Given the description of an element on the screen output the (x, y) to click on. 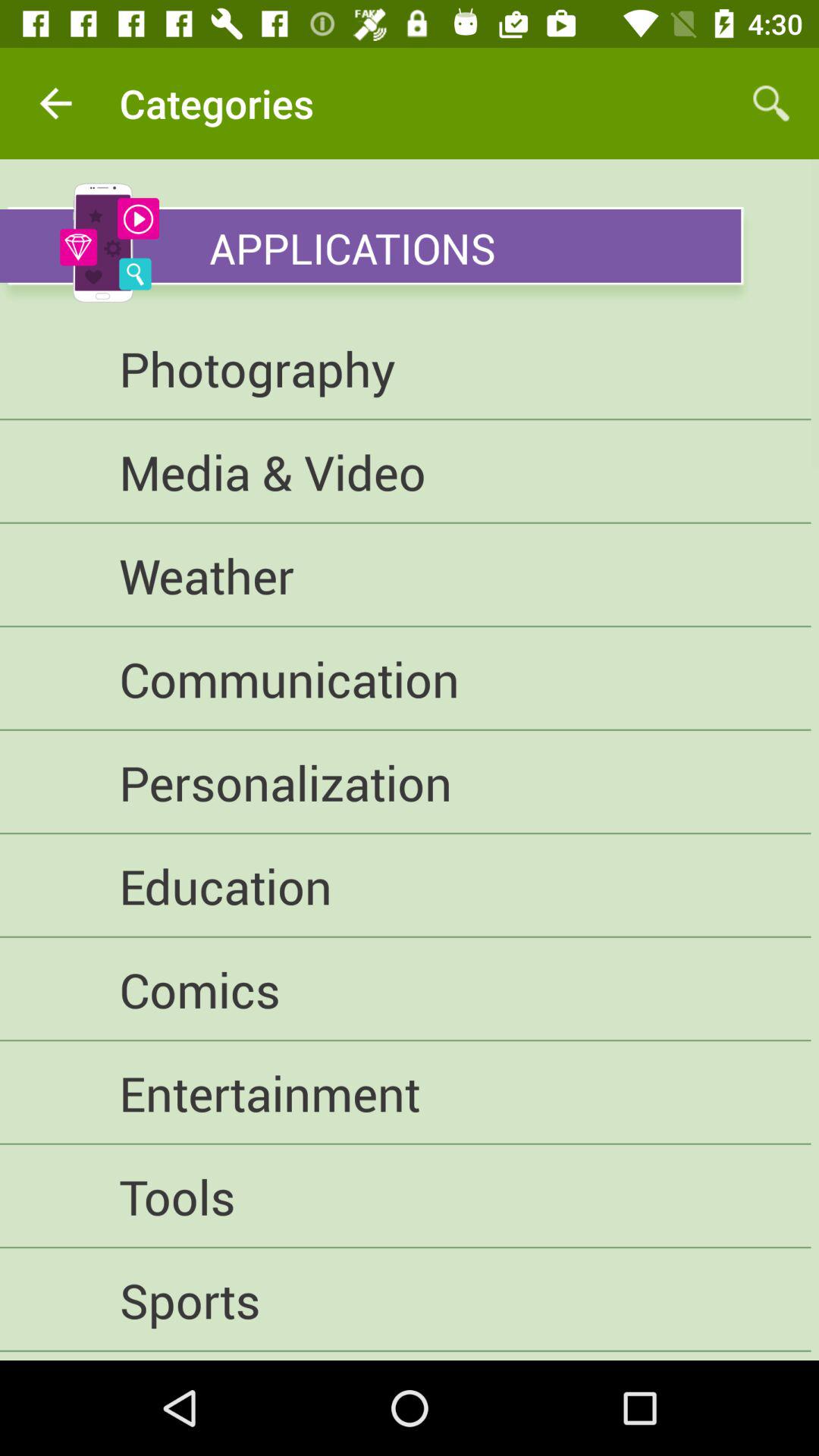
launch the icon above photography (370, 245)
